Given the description of an element on the screen output the (x, y) to click on. 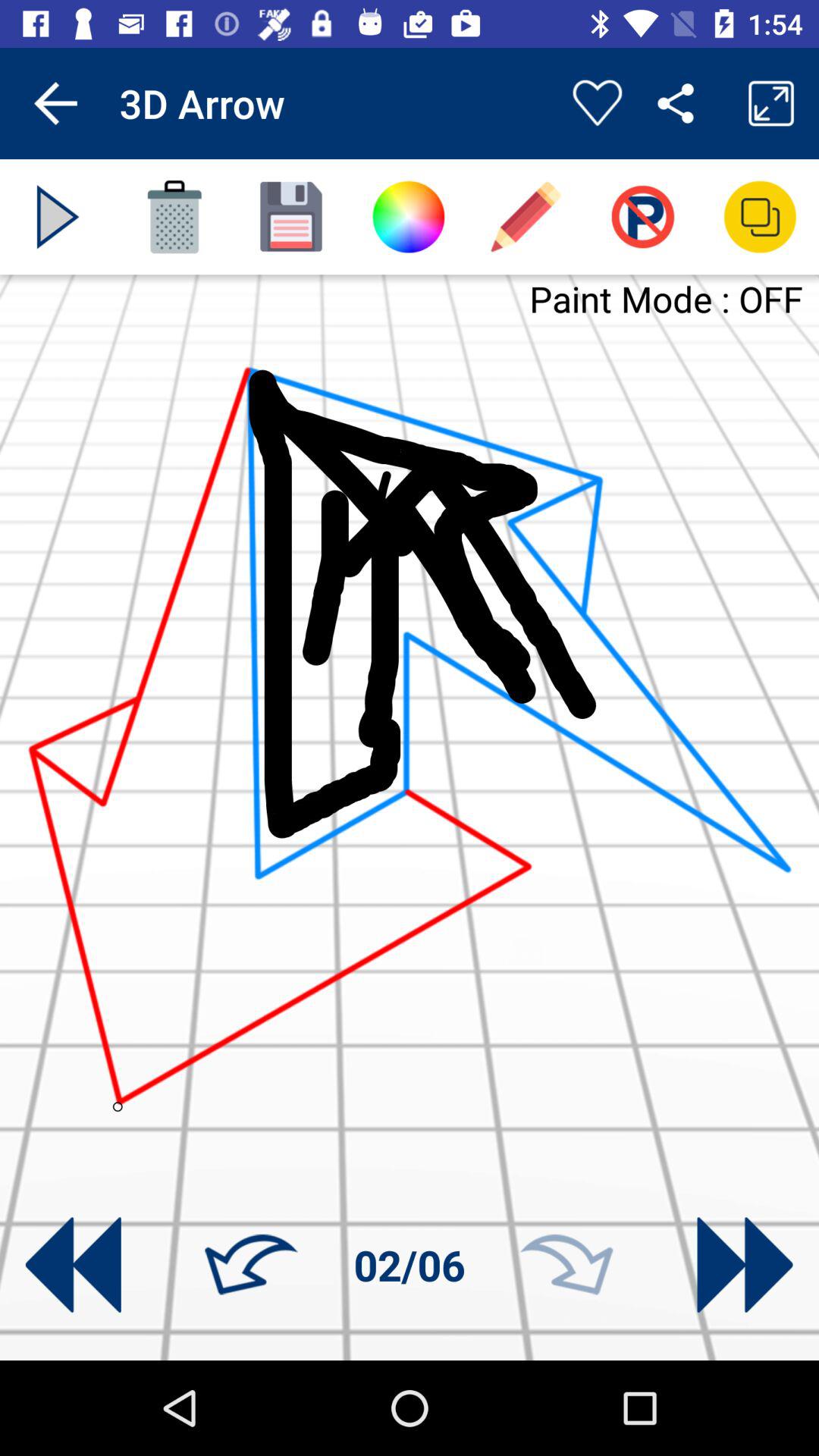
move forward (744, 1264)
